Given the description of an element on the screen output the (x, y) to click on. 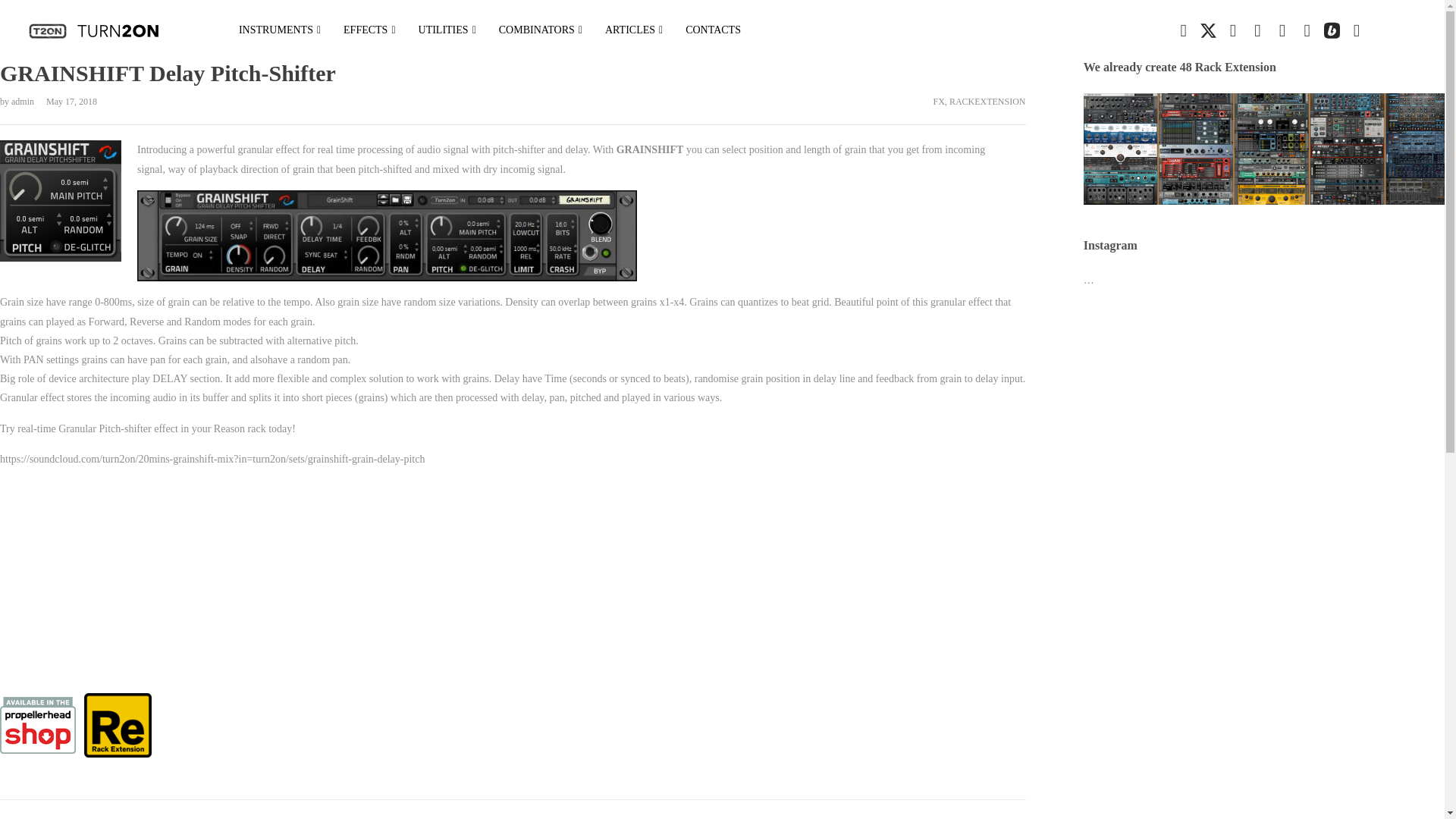
GrainShift Delay PitchShifter FX (189, 585)
EFFECTS (368, 30)
INSTRUMENTS (279, 30)
